Given the description of an element on the screen output the (x, y) to click on. 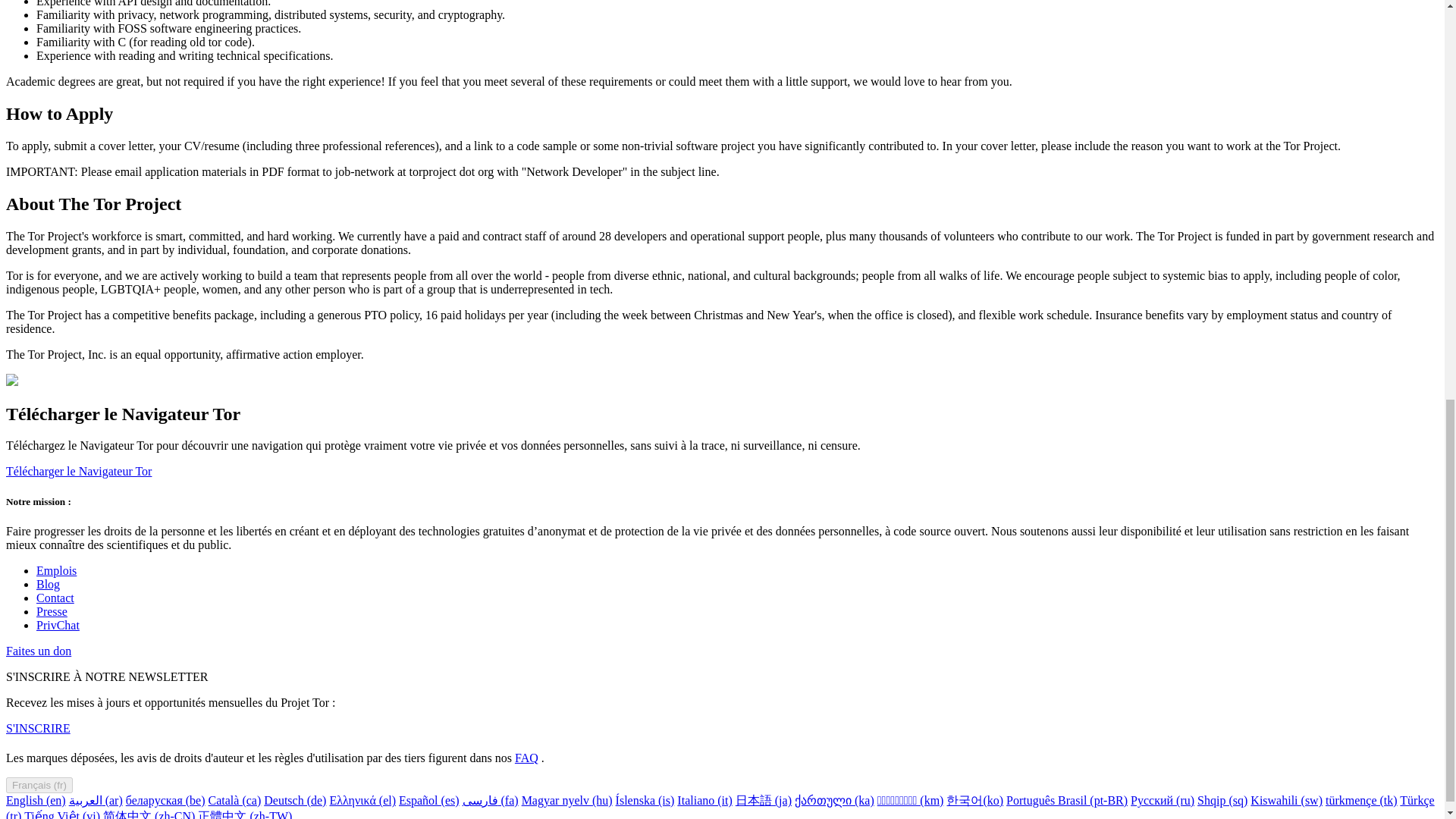
Contact (55, 597)
Emplois (56, 570)
Faire un don (38, 650)
Blog (47, 584)
